Given the description of an element on the screen output the (x, y) to click on. 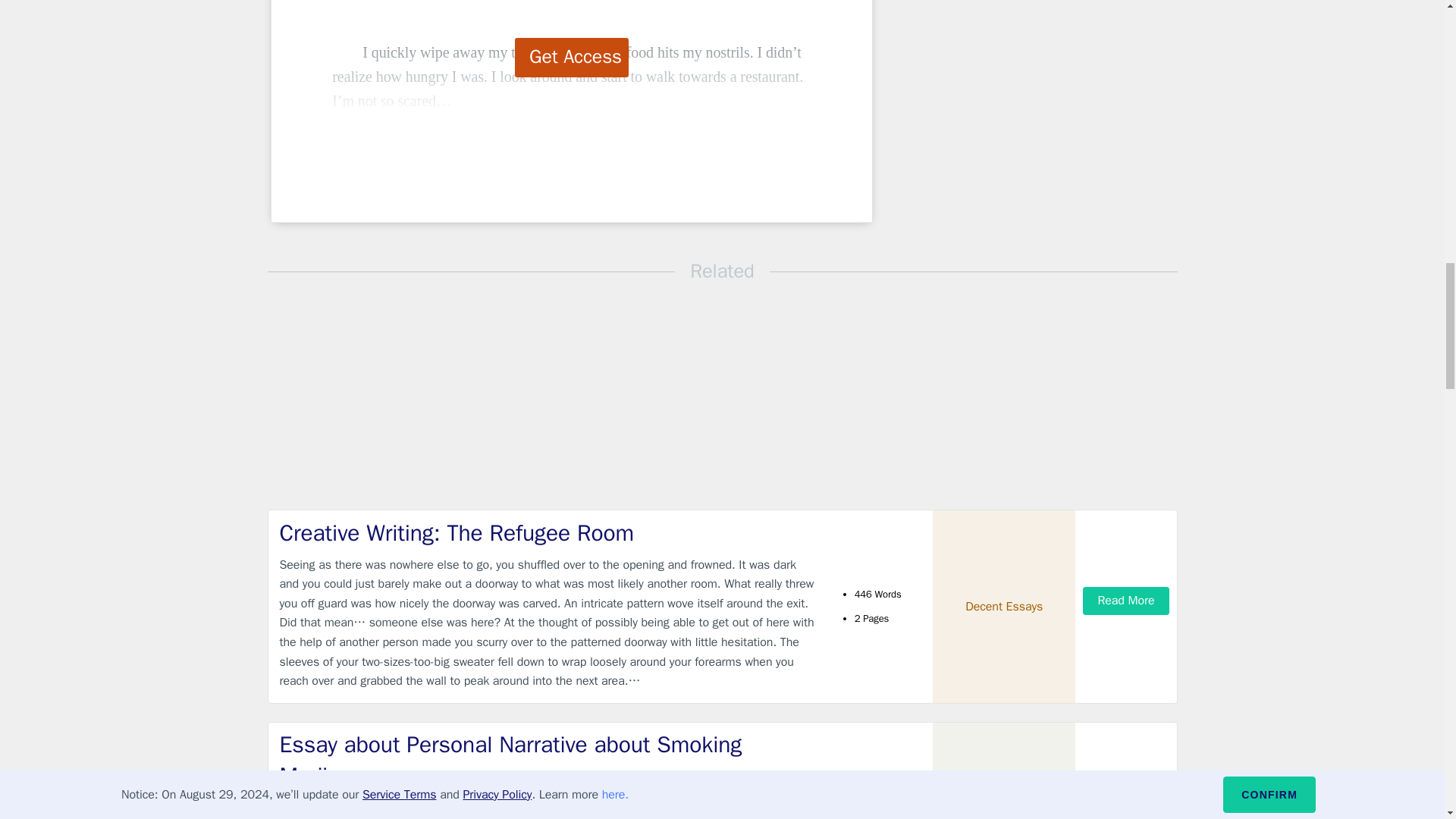
Creative Writing: The Refugee Room (548, 532)
Read More (1126, 601)
Get Access (571, 56)
Read More (1126, 811)
Essay about Personal Narrative about Smoking Marijuana (548, 760)
